Given the description of an element on the screen output the (x, y) to click on. 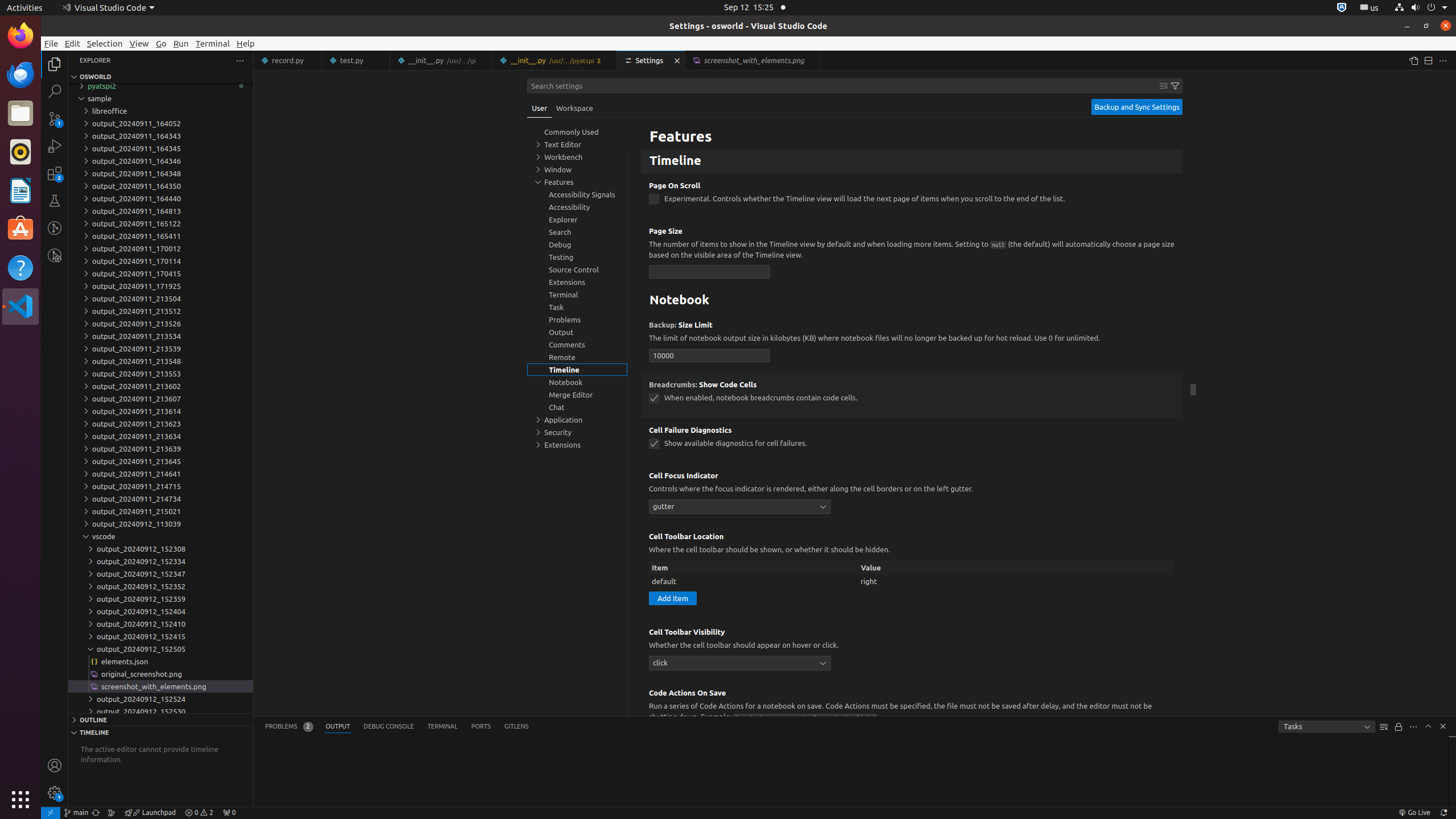
Extensions, group Element type: tree-item (577, 444)
Terminal, group Element type: tree-item (577, 294)
No Ports Forwarded Element type: push-button (228, 812)
output_20240912_152530 Element type: tree-item (160, 711)
